Given the description of an element on the screen output the (x, y) to click on. 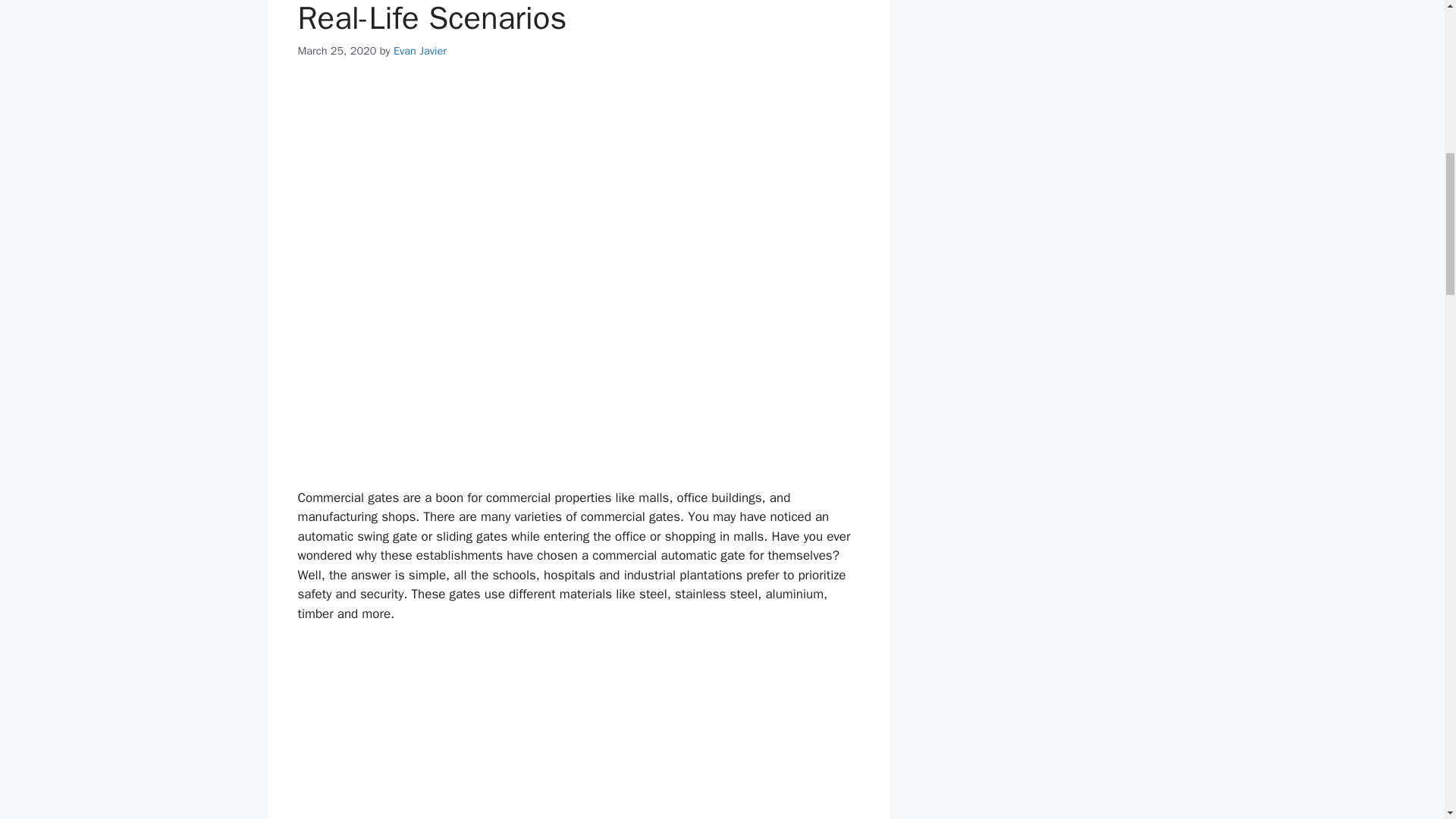
View all posts by Evan Javier (419, 50)
Advertisement (664, 730)
Evan Javier (419, 50)
